Given the description of an element on the screen output the (x, y) to click on. 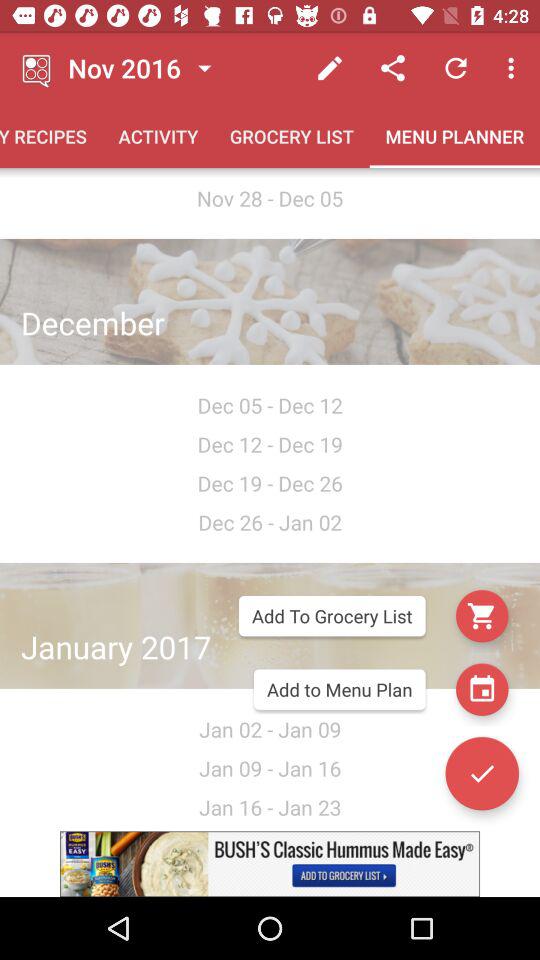
grocery list option (482, 615)
